Given the description of an element on the screen output the (x, y) to click on. 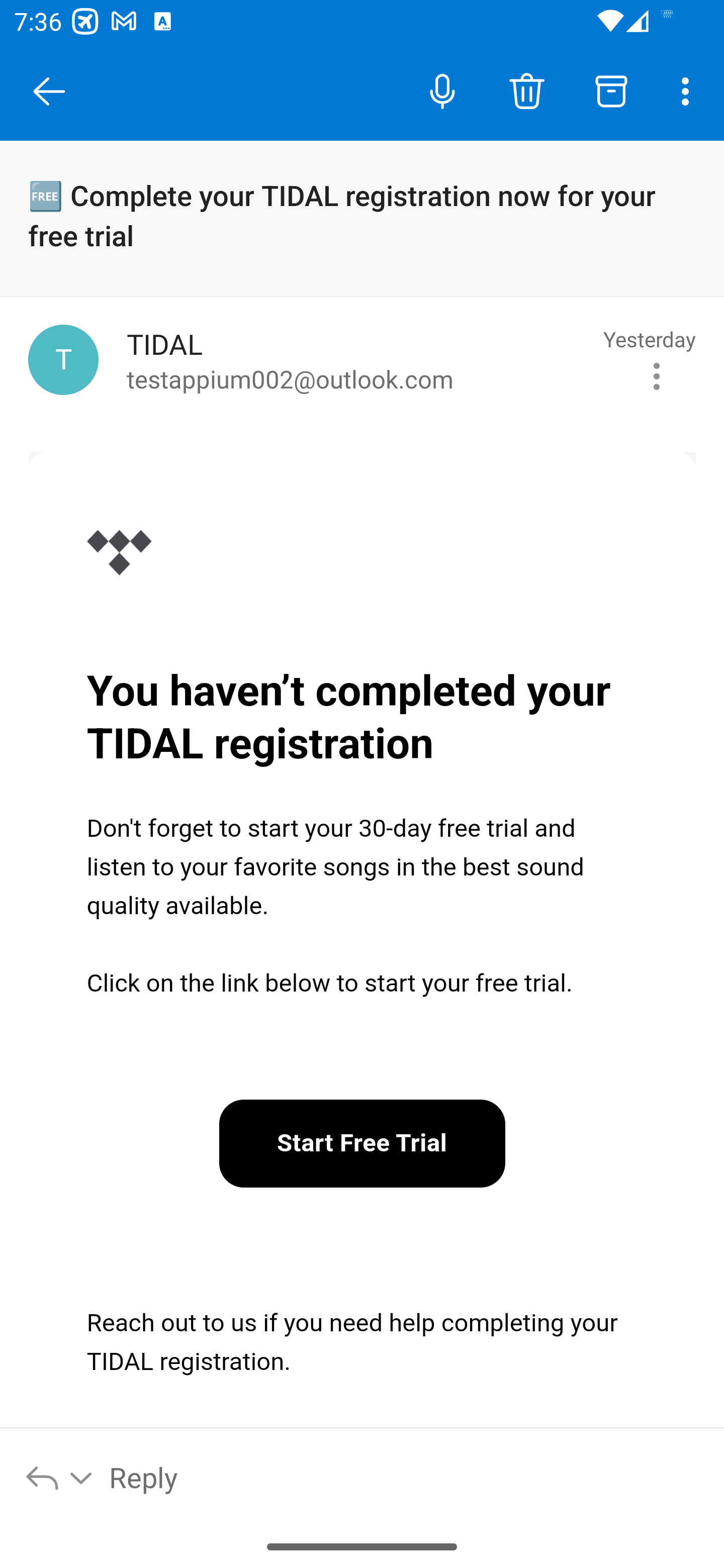
Close (49, 91)
Delete (526, 90)
Archive (611, 90)
More options (688, 90)
TIDAL, hello@email.tidal.com (63, 359)
TIDAL
to testappium002@outlook.com (357, 359)
Message actions (656, 376)
TIDAL (118, 556)
Start Free Trial (362, 1143)
Reply options (59, 1476)
